Given the description of an element on the screen output the (x, y) to click on. 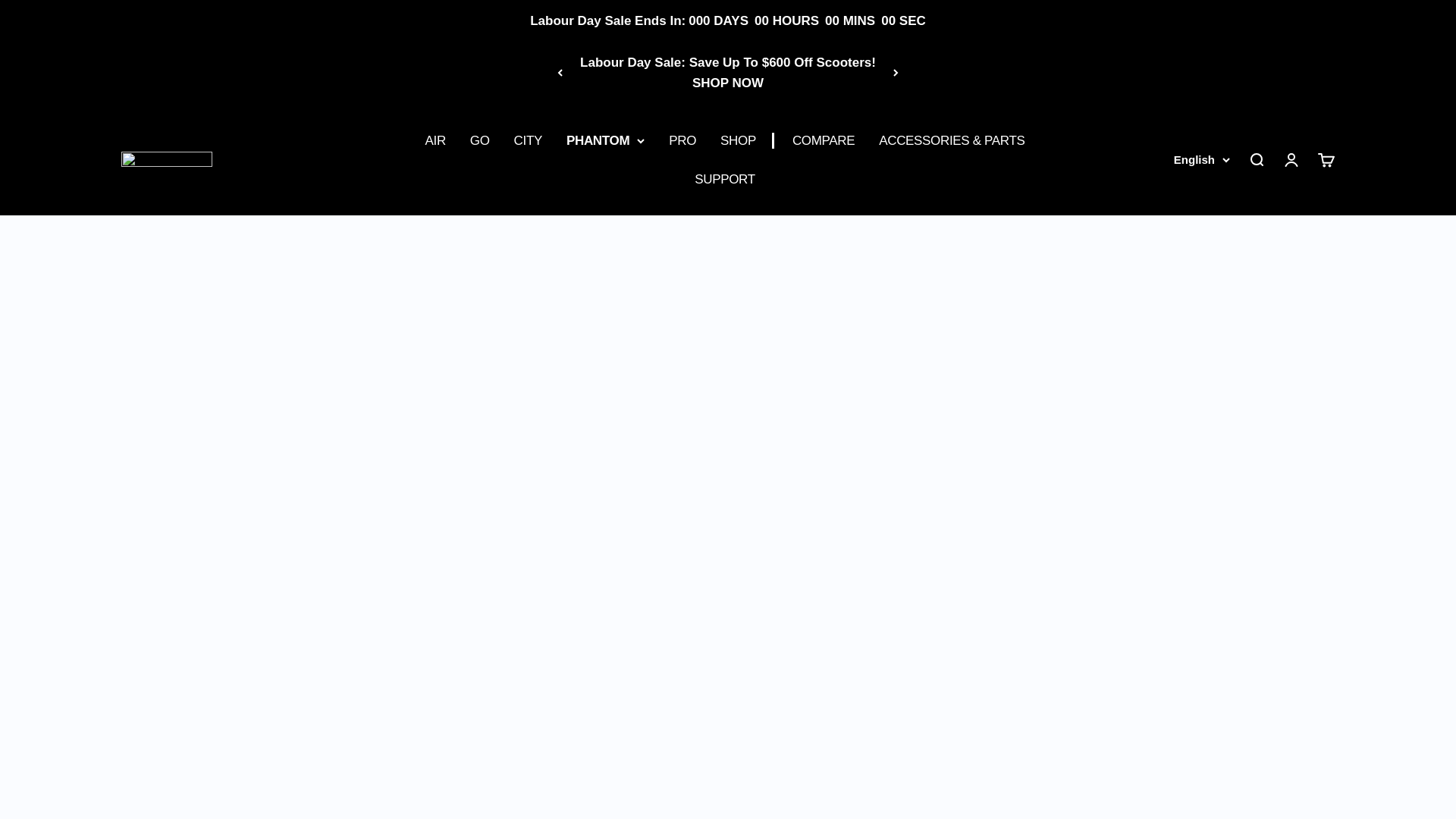
CITY (527, 140)
COMPARE (823, 140)
Apollo Scooters (166, 159)
English (1201, 159)
GO (479, 140)
PRO (681, 140)
Open account page (1291, 159)
SUPPORT (724, 178)
AIR (435, 140)
Open cart (1326, 159)
